Given the description of an element on the screen output the (x, y) to click on. 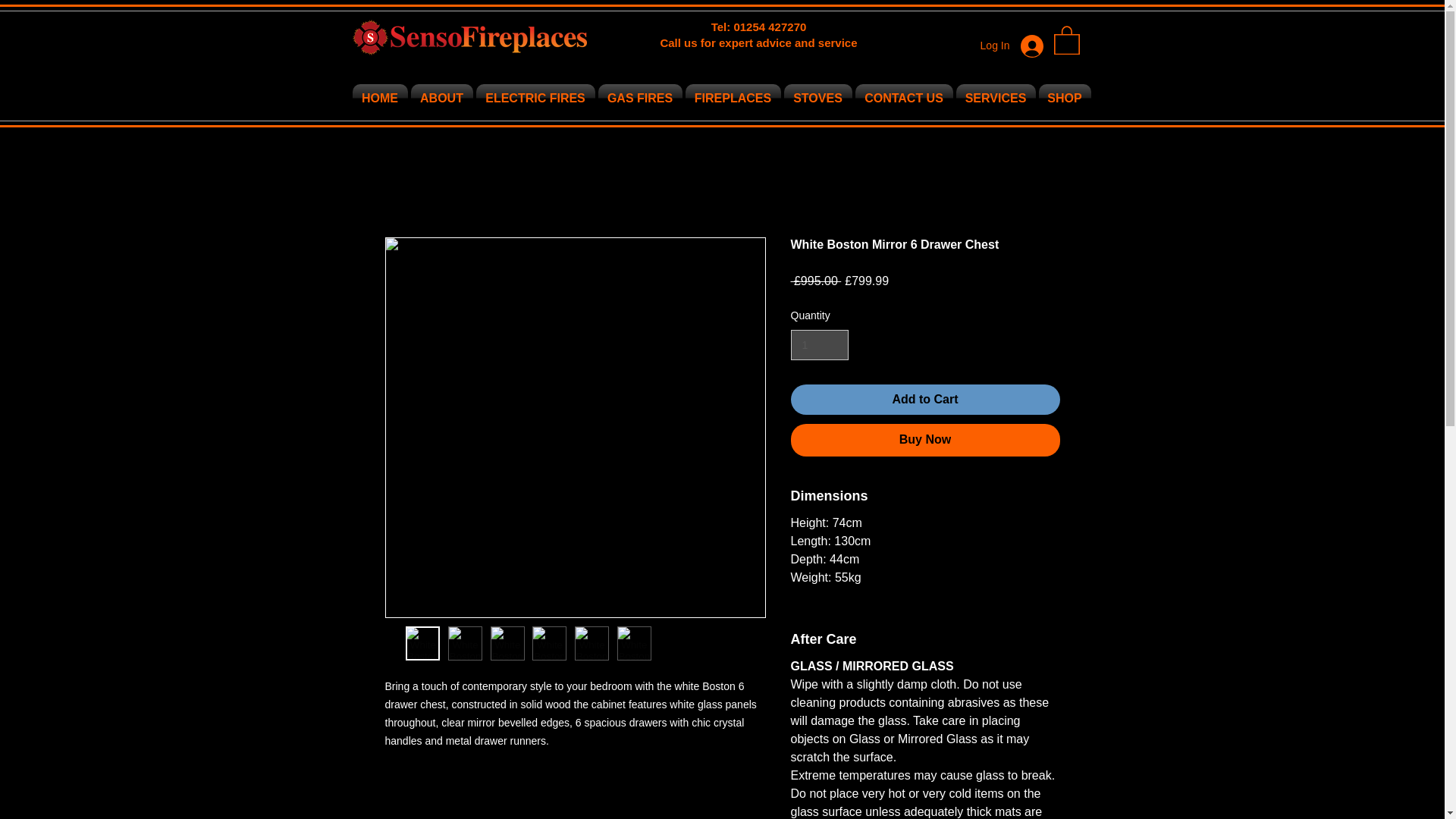
1 (818, 345)
Log In (1012, 46)
FIREPLACES (733, 98)
GAS FIRES (638, 98)
SERVICES (994, 98)
STOVES (818, 98)
ELECTRIC FIRES (535, 98)
ABOUT (441, 98)
CONTACT US (904, 98)
Buy Now (924, 439)
Fireplace showroom Blackburn (469, 36)
Add to Cart (924, 399)
HOME (380, 98)
SHOP (1063, 98)
